Given the description of an element on the screen output the (x, y) to click on. 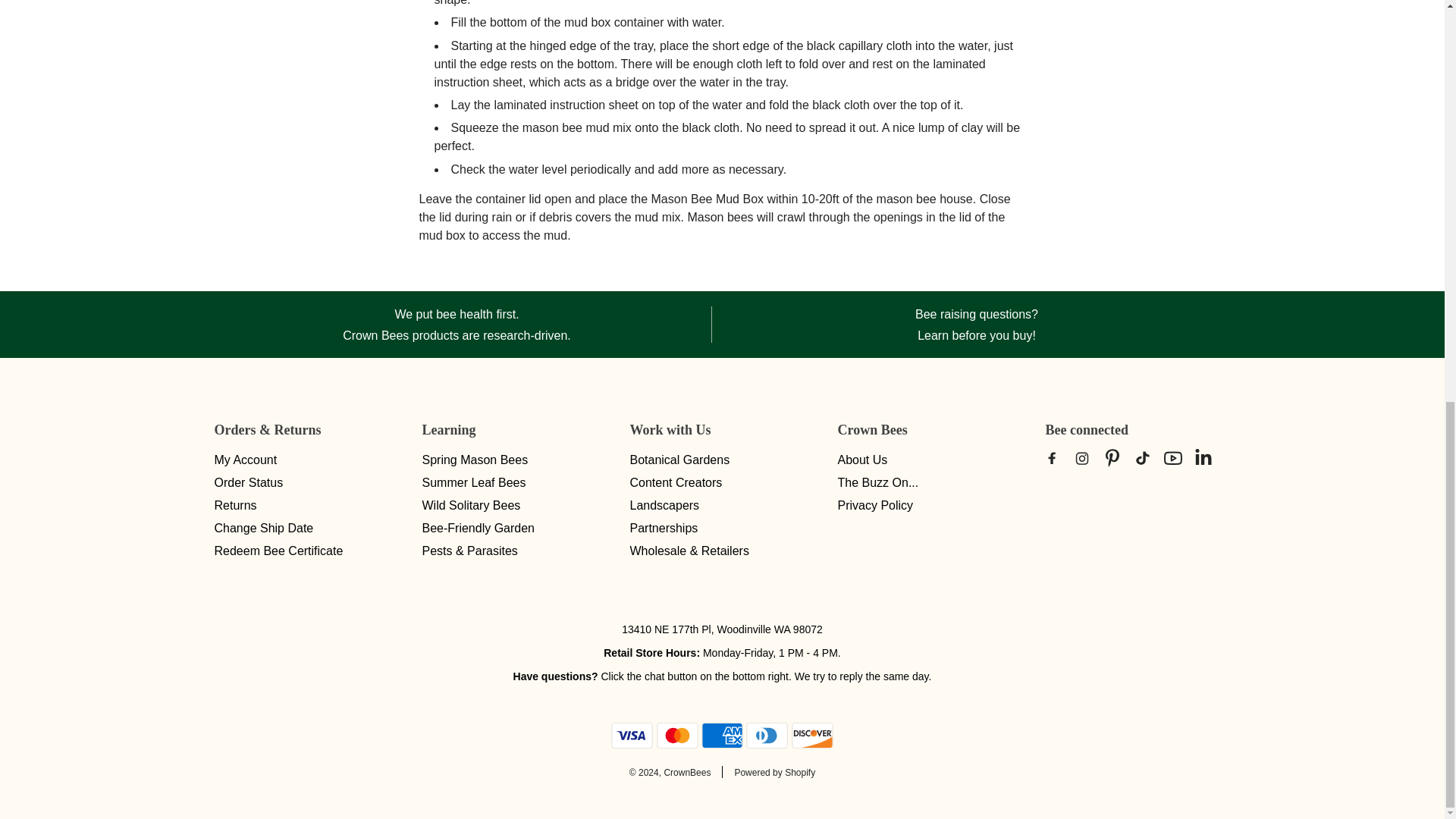
American Express (721, 735)
Visa (631, 735)
Mastercard (677, 735)
Diners Club (766, 735)
